Given the description of an element on the screen output the (x, y) to click on. 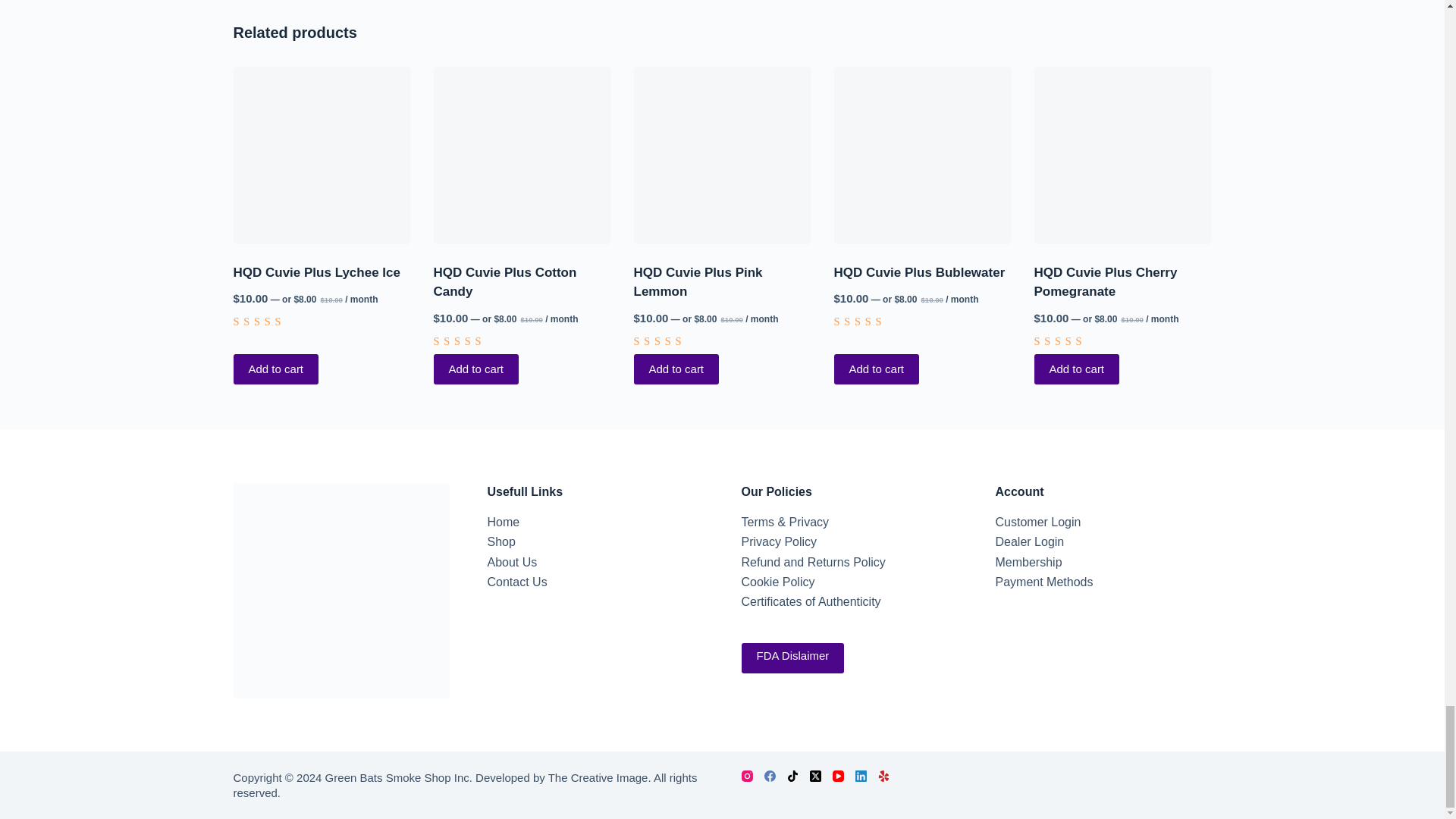
HQD Cuvie Plus Bublewater 1 (922, 155)
HQD Cuvie Plus Lychee Ice 1 (321, 155)
HQD Cuvie Plus Cherry Pomegranate 1 (1122, 155)
HQD Cuvie Plus Pink Lemmon 1 (721, 155)
